Given the description of an element on the screen output the (x, y) to click on. 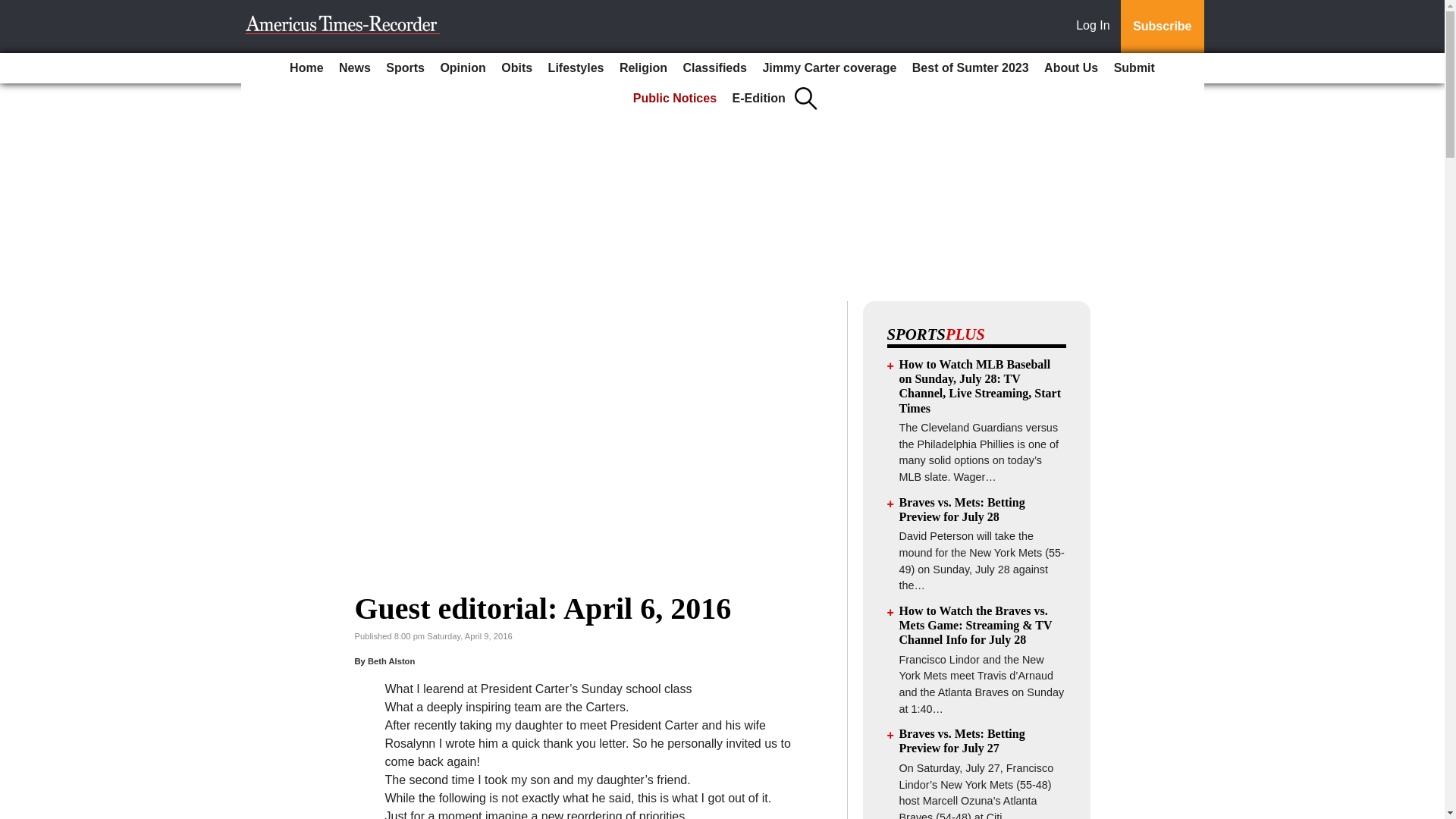
Subscribe (1162, 26)
Sports (405, 68)
Religion (642, 68)
Obits (516, 68)
Public Notices (674, 98)
Braves vs. Mets: Betting Preview for July 28 (962, 509)
Lifestyles (575, 68)
E-Edition (759, 98)
Log In (1095, 26)
Classifieds (714, 68)
Go (13, 9)
About Us (1070, 68)
Best of Sumter 2023 (970, 68)
Home (306, 68)
